Given the description of an element on the screen output the (x, y) to click on. 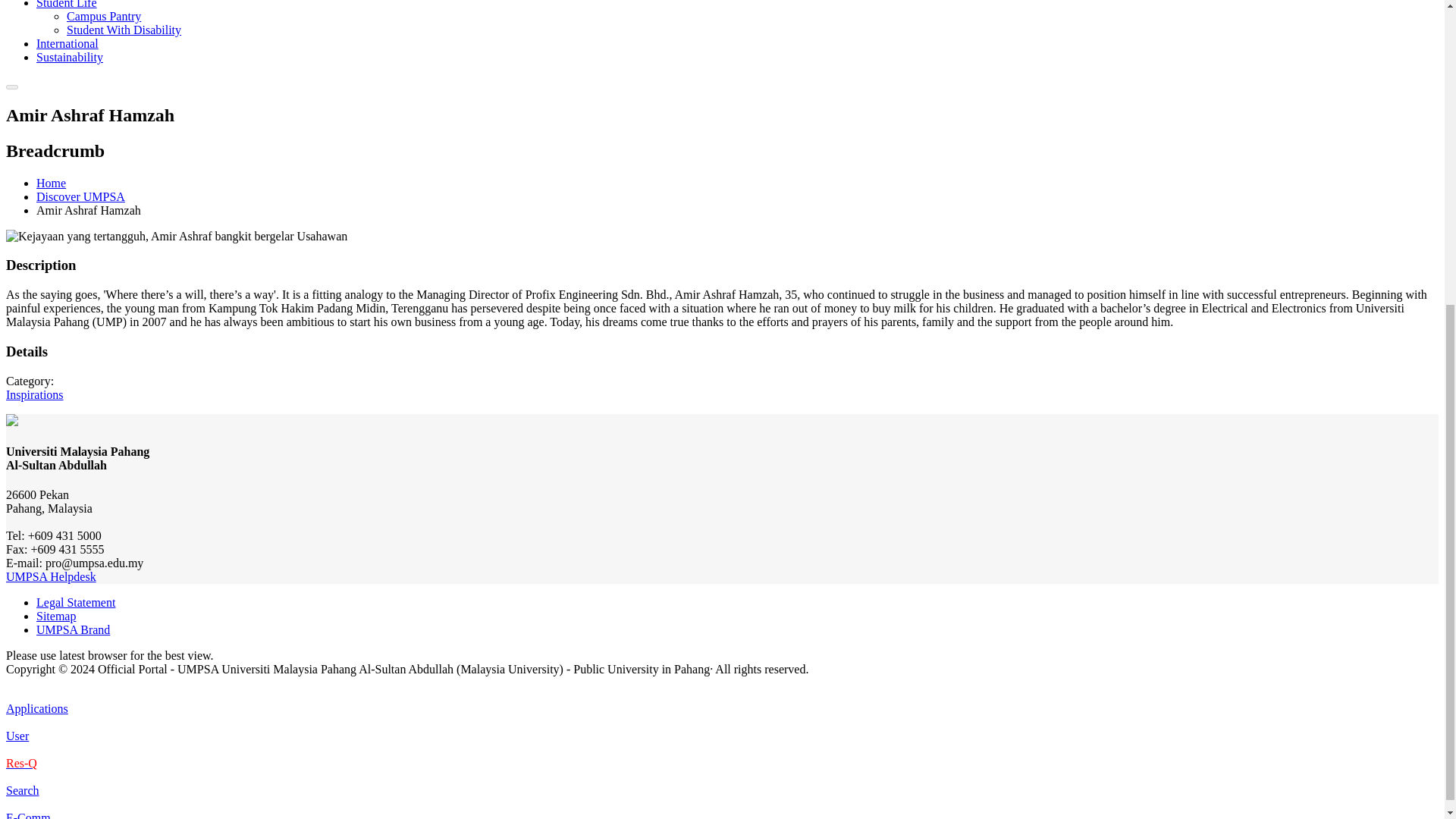
International (67, 42)
Student With Disability (123, 29)
Home (50, 182)
Campus Pantry (103, 15)
Student Life (66, 4)
Sustainability (69, 56)
